Given the description of an element on the screen output the (x, y) to click on. 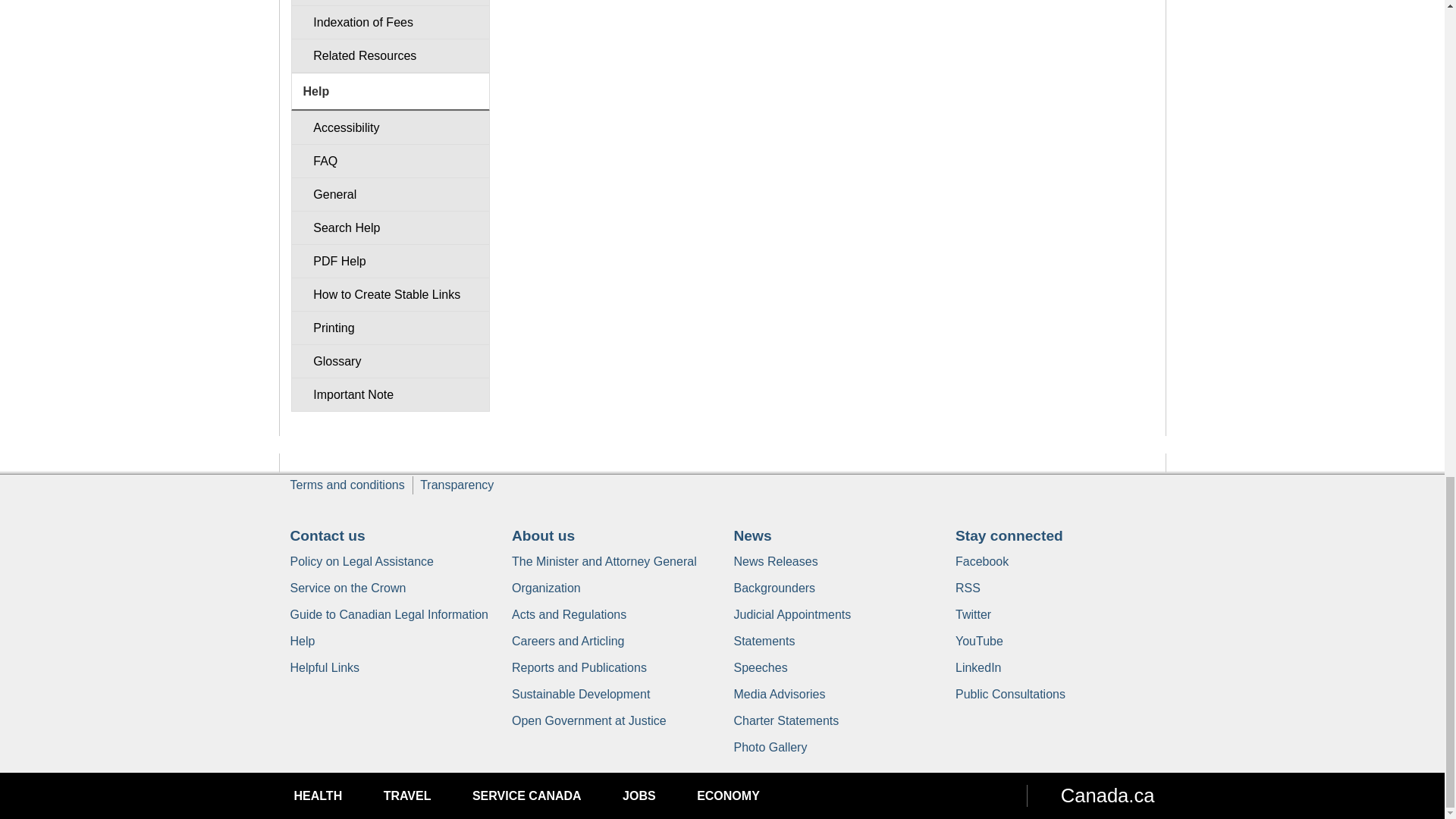
Accessibility Help (390, 127)
Printing Help (390, 327)
Frequently Asked Questions (390, 161)
Helpful links (324, 667)
Related Resources (390, 55)
General Help (390, 194)
